Given the description of an element on the screen output the (x, y) to click on. 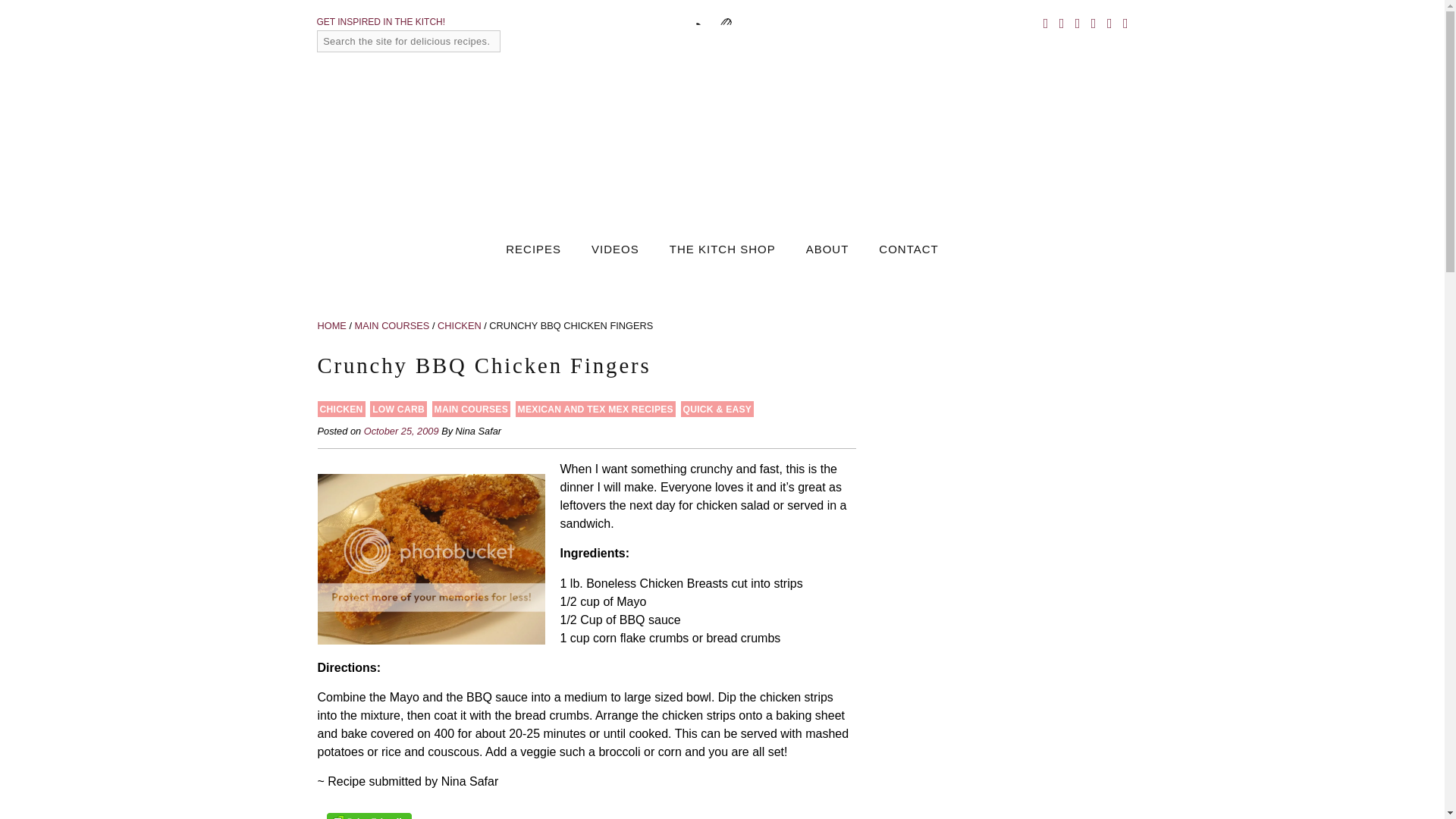
October 25, 2009 (401, 430)
RECIPES (532, 248)
MAIN COURSES (392, 325)
CONTACT (908, 248)
CHICKEN (341, 409)
Search (517, 41)
Search (1406, 18)
MAIN COURSES (470, 409)
VIDEOS (615, 248)
Search (517, 41)
